Given the description of an element on the screen output the (x, y) to click on. 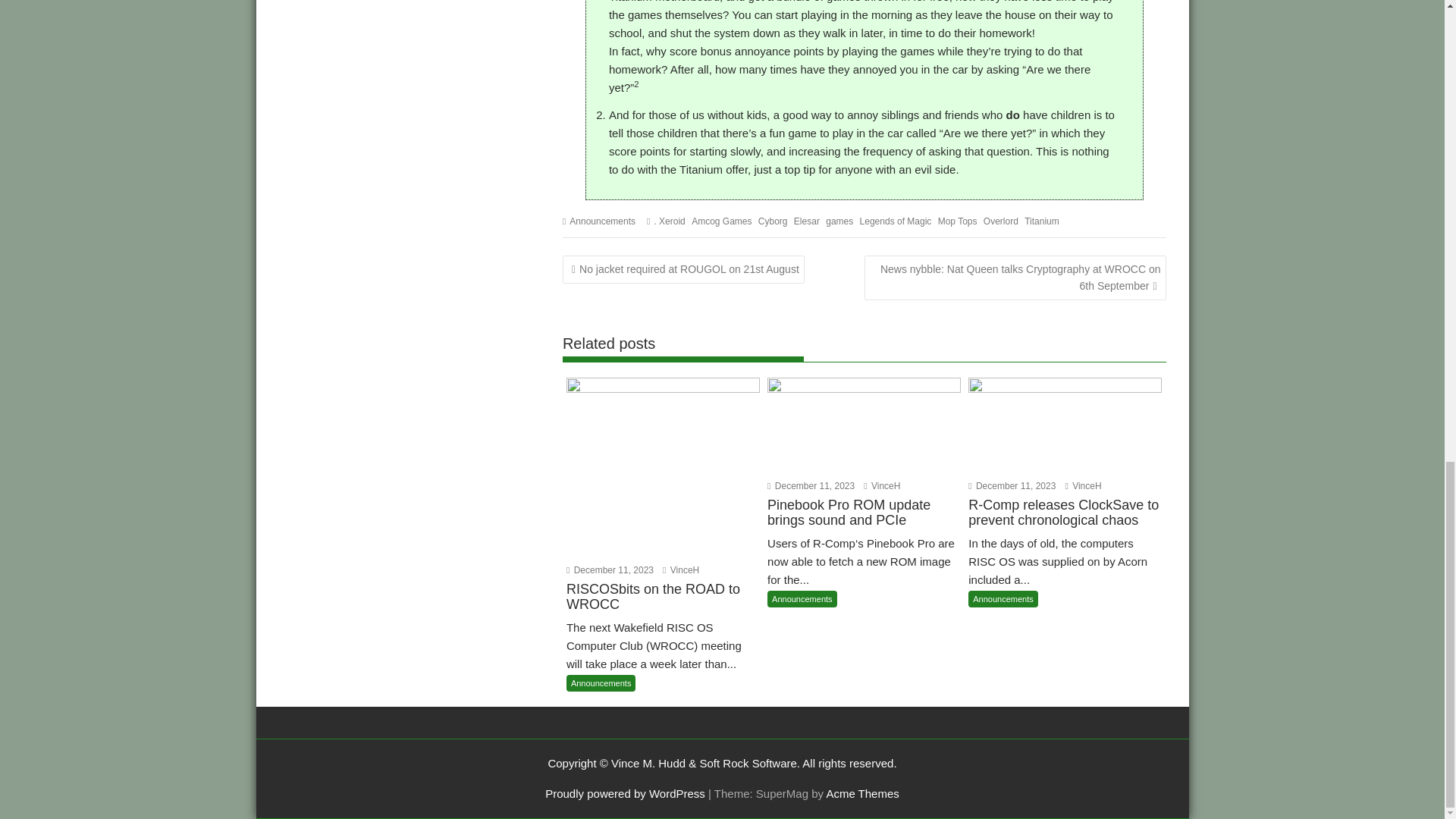
Titanium (1042, 221)
Announcements (601, 221)
No jacket required at ROUGOL on 21st August (683, 269)
VinceH (881, 485)
December 11, 2023 (810, 485)
games (839, 221)
Overlord (1000, 221)
December 11, 2023 (609, 570)
VinceH (680, 570)
Amcog Games (721, 221)
VinceH (1082, 485)
Announcements (601, 682)
Legends of Magic (895, 221)
Mop Tops (956, 221)
